Given the description of an element on the screen output the (x, y) to click on. 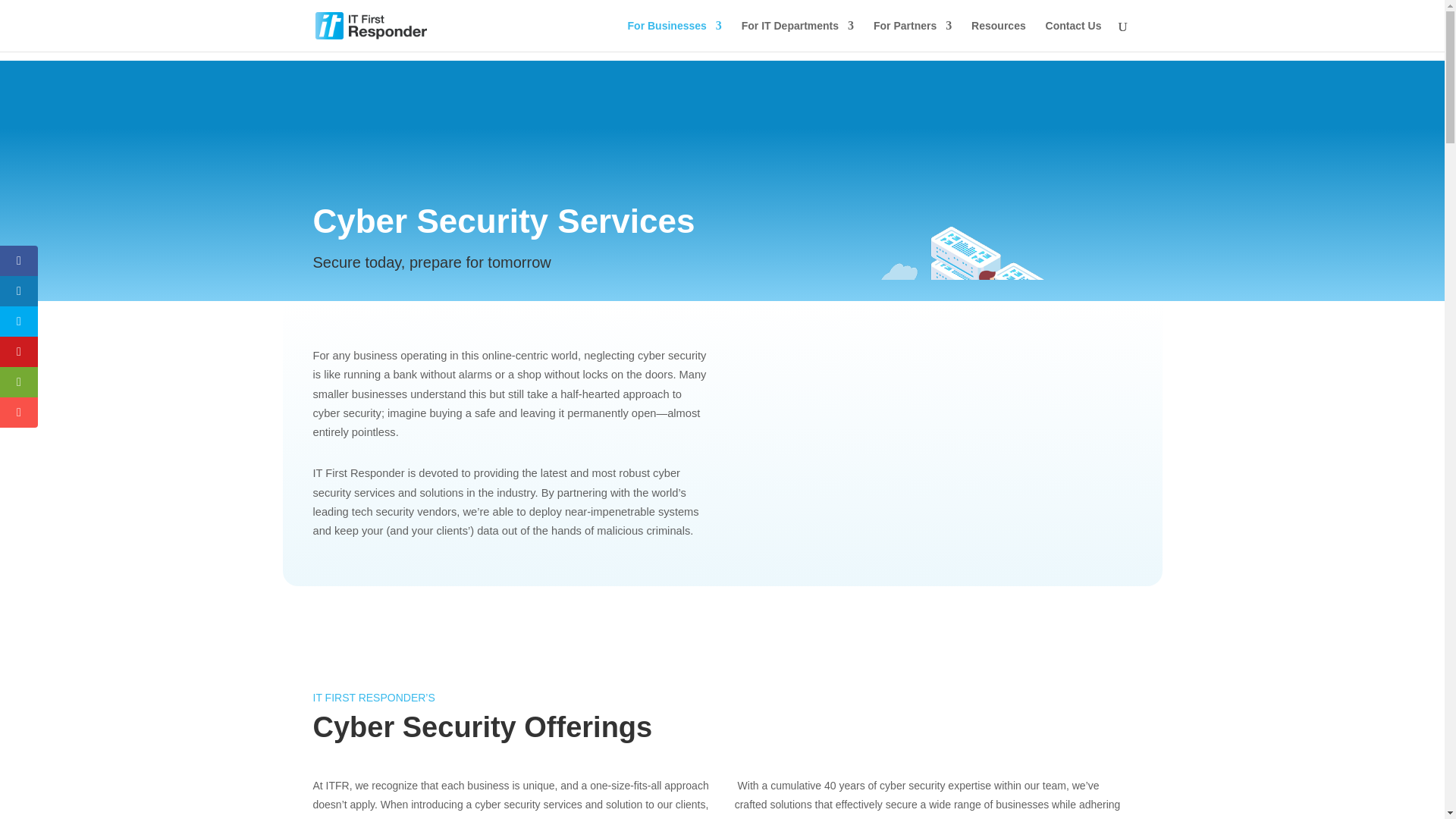
For Businesses (674, 35)
Resources (998, 35)
Contact Us (1073, 35)
For IT Departments (797, 35)
For Partners (912, 35)
Cybersecurity (937, 371)
